Given the description of an element on the screen output the (x, y) to click on. 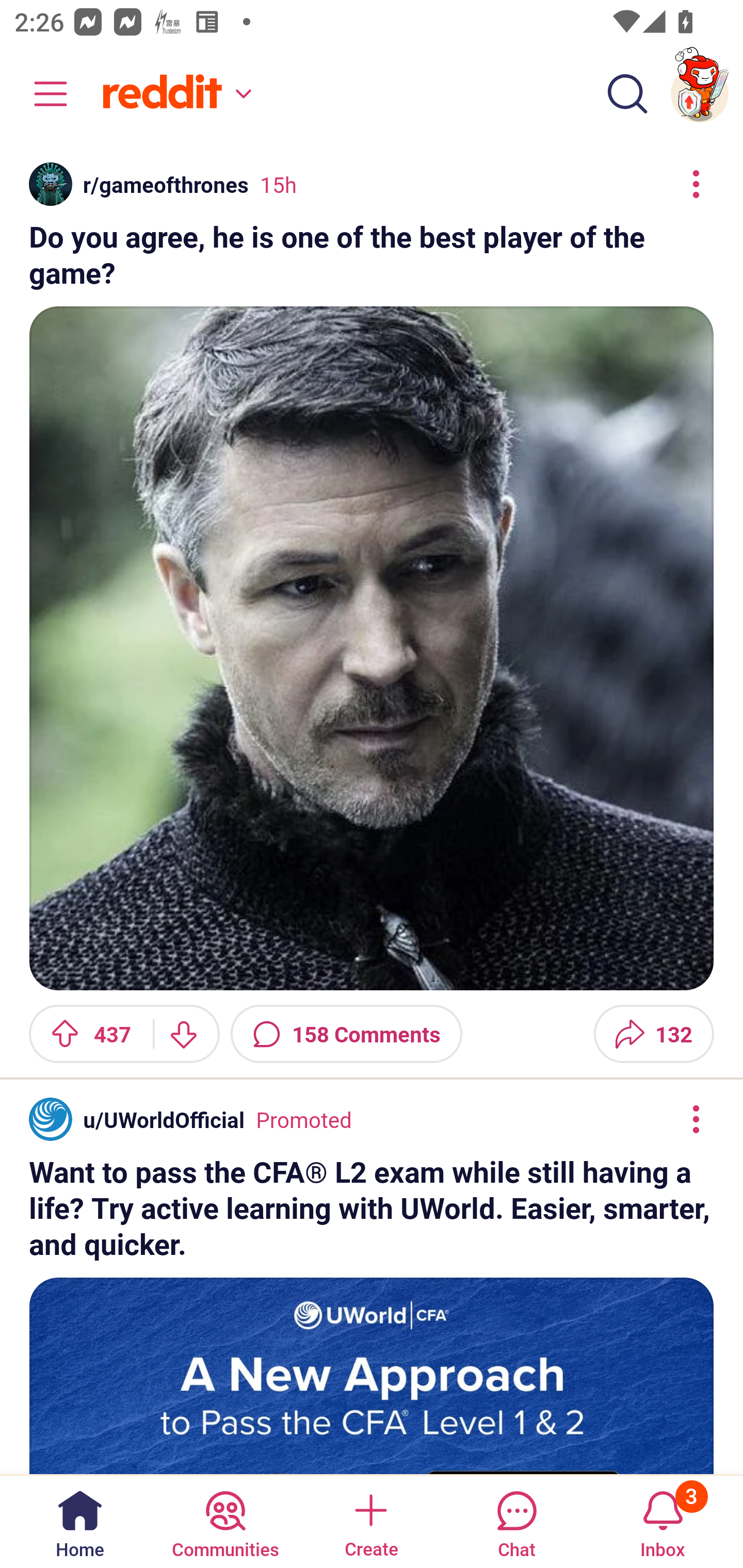
Search (626, 93)
TestAppium002 account (699, 93)
Community menu (41, 94)
Home feed (173, 94)
Home (80, 1520)
Communities (225, 1520)
Create a post Create (370, 1520)
Chat (516, 1520)
Inbox, has 3 notifications 3 Inbox (662, 1520)
